Given the description of an element on the screen output the (x, y) to click on. 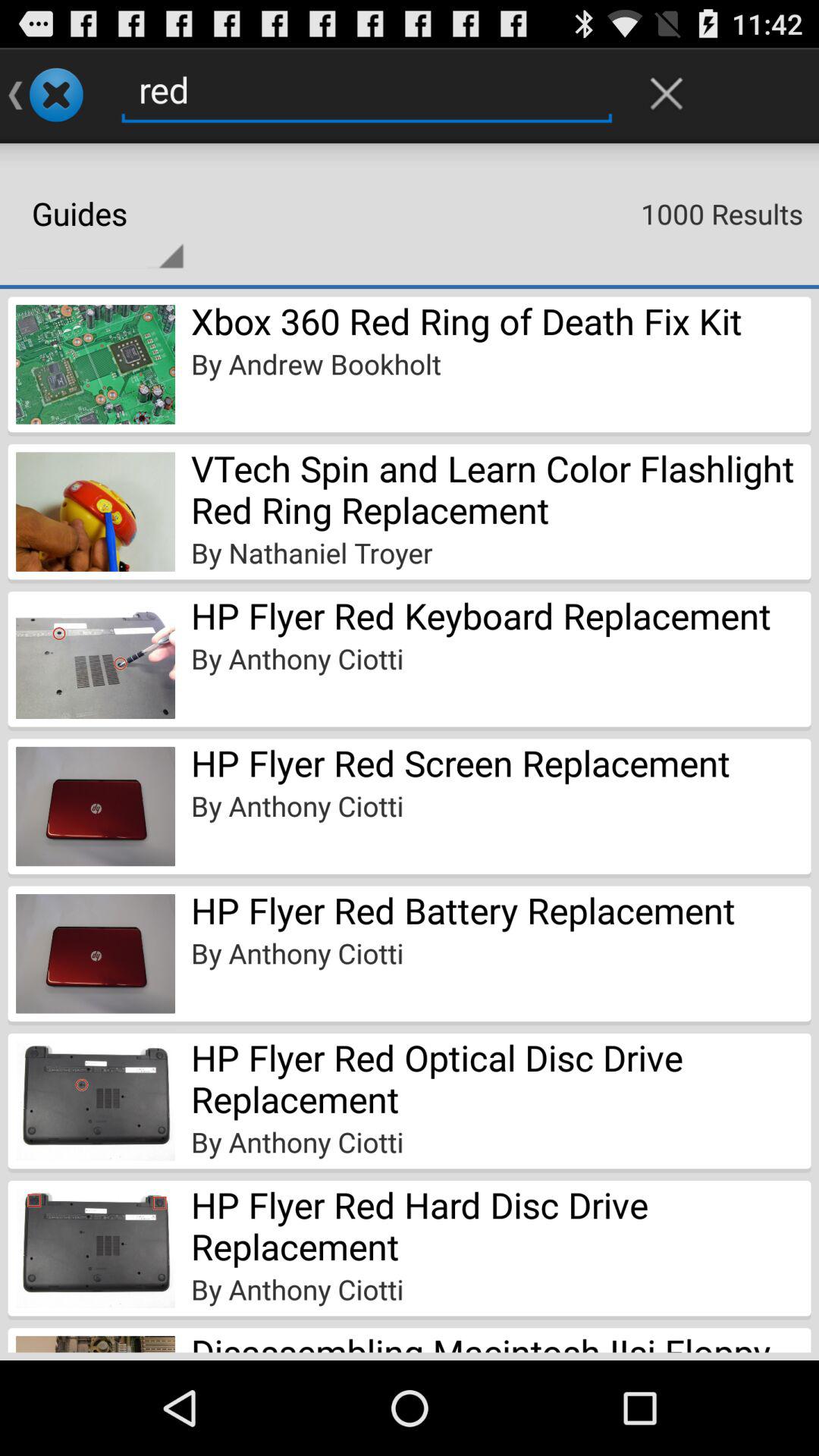
tap icon below by andrew bookholt app (501, 489)
